Given the description of an element on the screen output the (x, y) to click on. 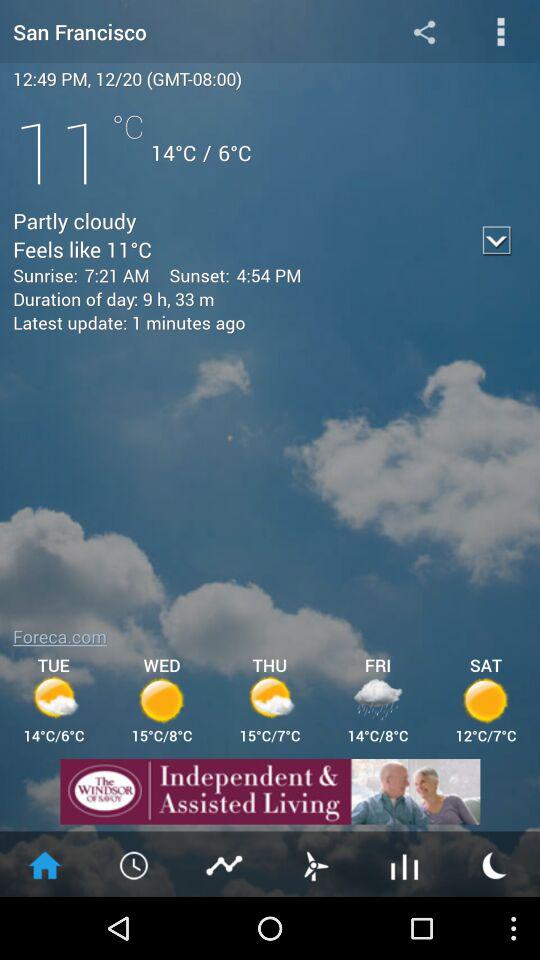
go to home button (45, 864)
